Given the description of an element on the screen output the (x, y) to click on. 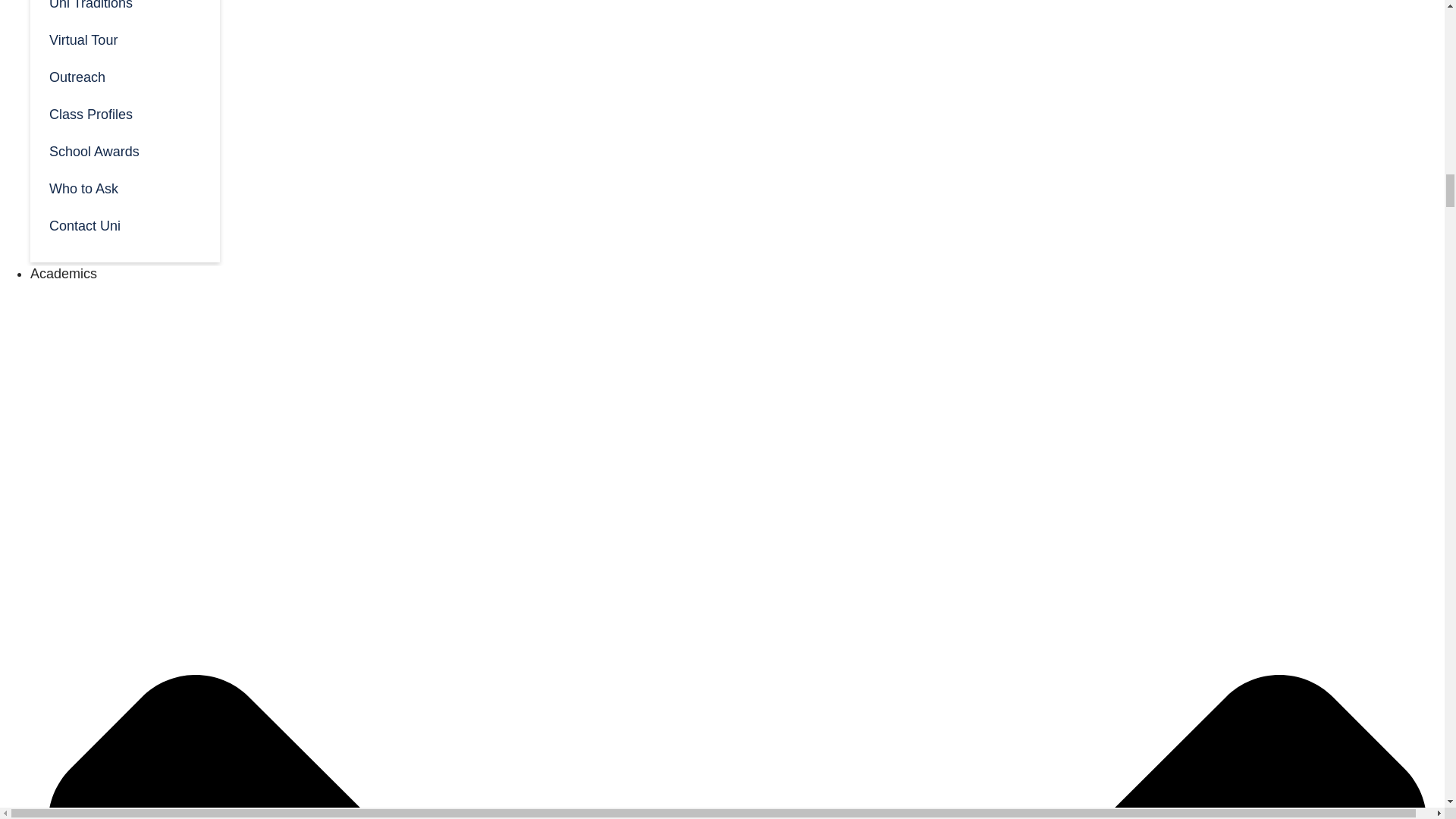
Virtual Tour (125, 38)
Class Profiles (125, 113)
School Awards (125, 149)
Academics (63, 273)
Outreach (125, 76)
Who to Ask (125, 187)
Contact Uni (125, 224)
Uni Traditions (125, 10)
